Given the description of an element on the screen output the (x, y) to click on. 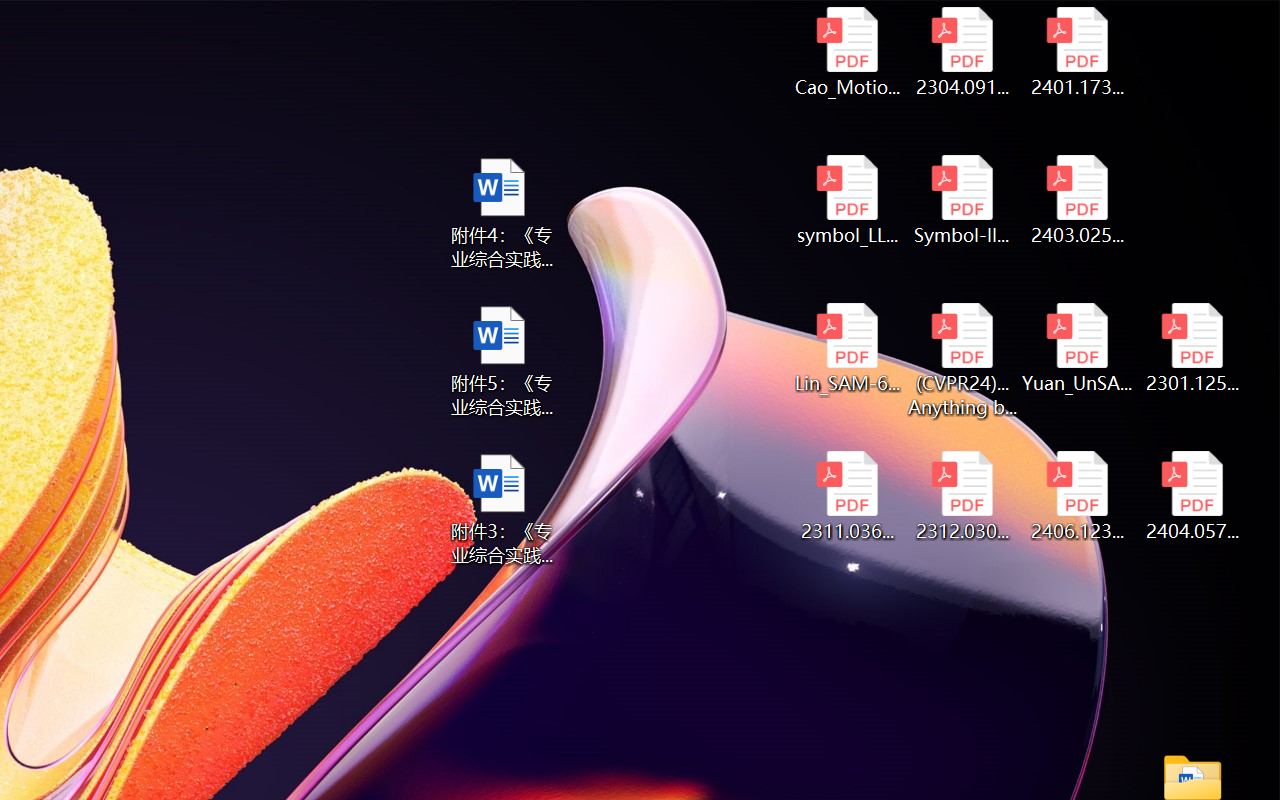
New Text Document (2) (931, 487)
